Given the description of an element on the screen output the (x, y) to click on. 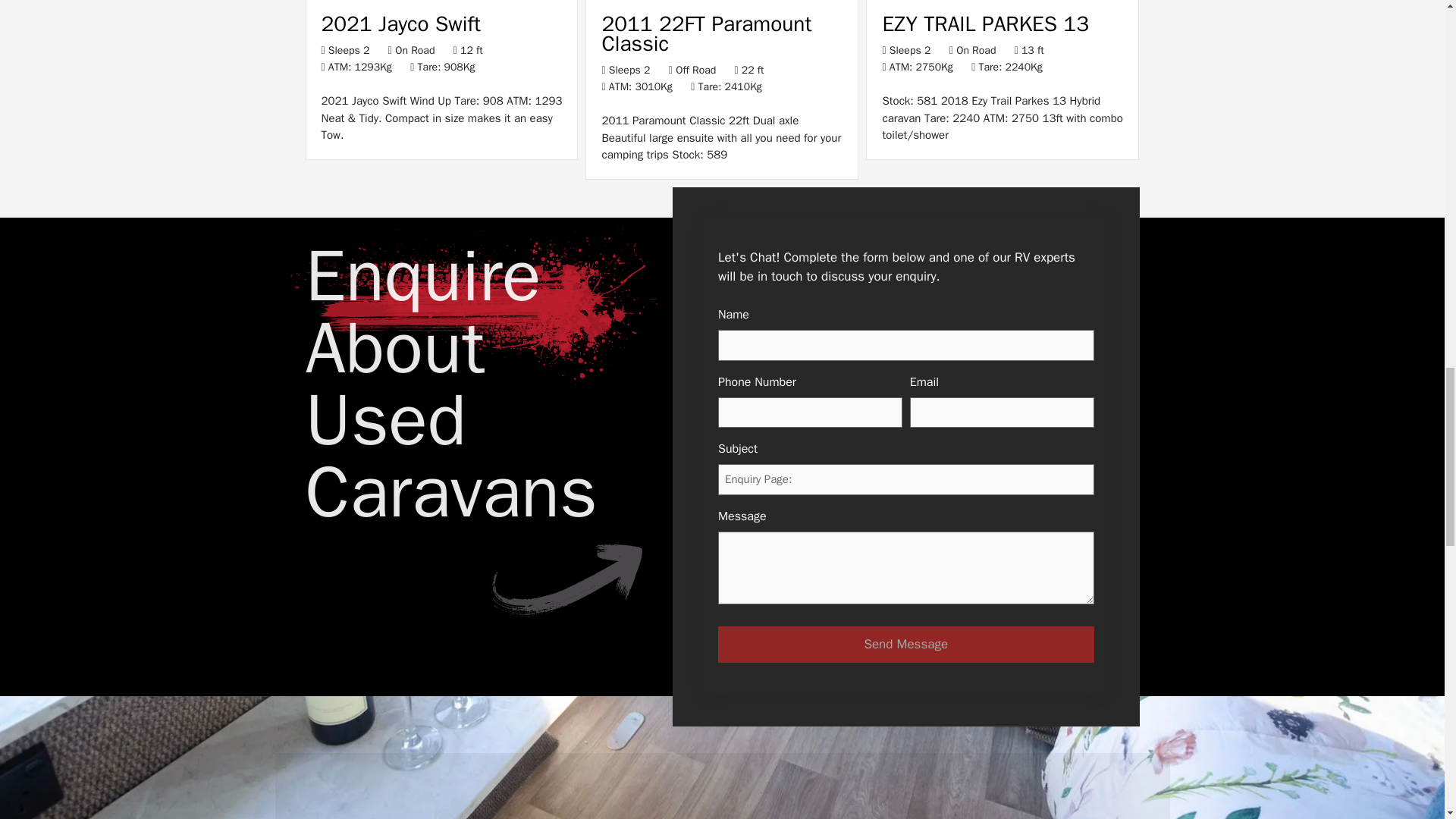
Send Message (905, 644)
Enquiry Page:  (905, 479)
